Given the description of an element on the screen output the (x, y) to click on. 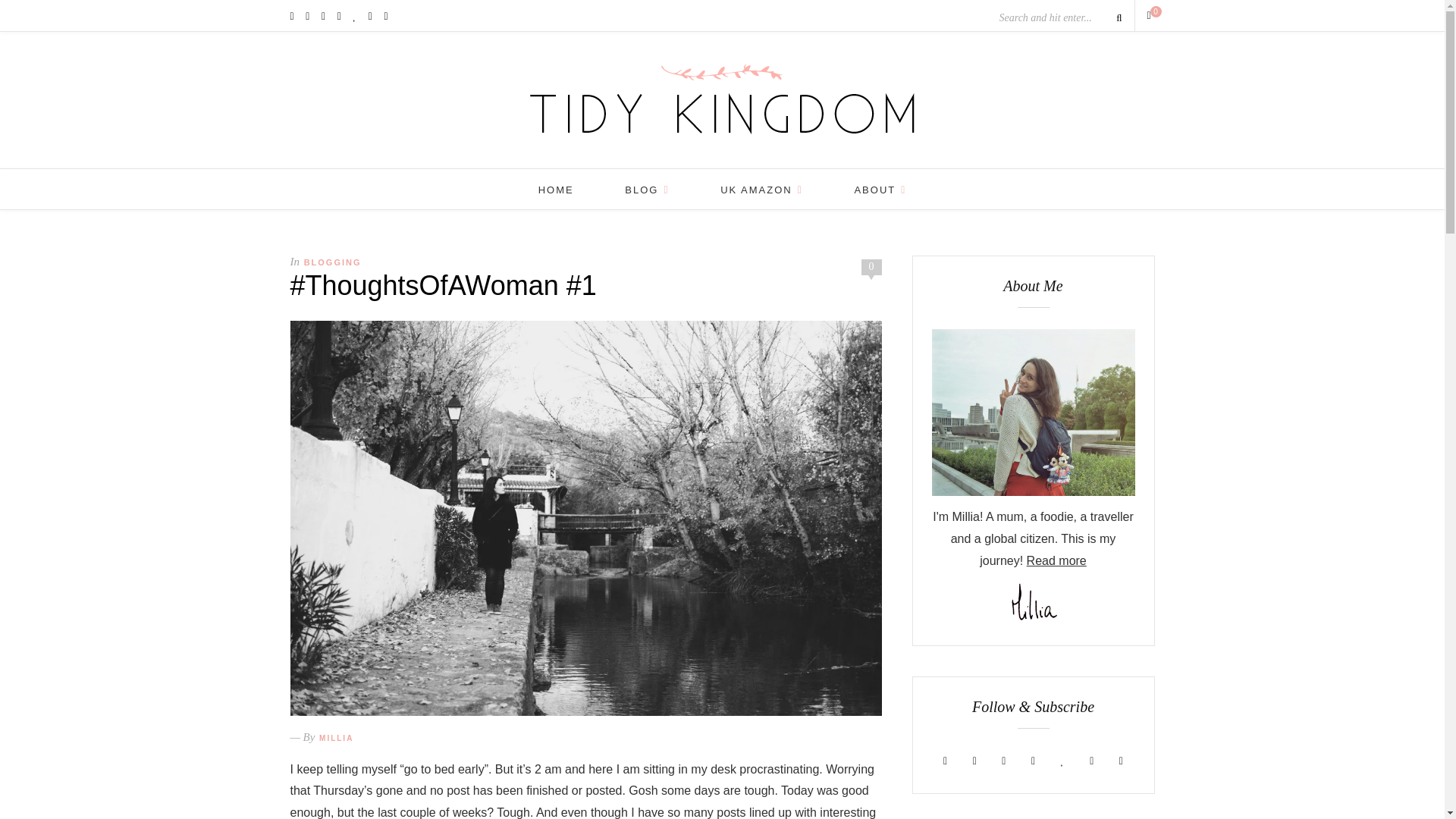
UK AMAZON (761, 189)
BLOGGING (332, 261)
BLOG (646, 189)
Posts by Millia (335, 737)
ABOUT (879, 189)
